Given the description of an element on the screen output the (x, y) to click on. 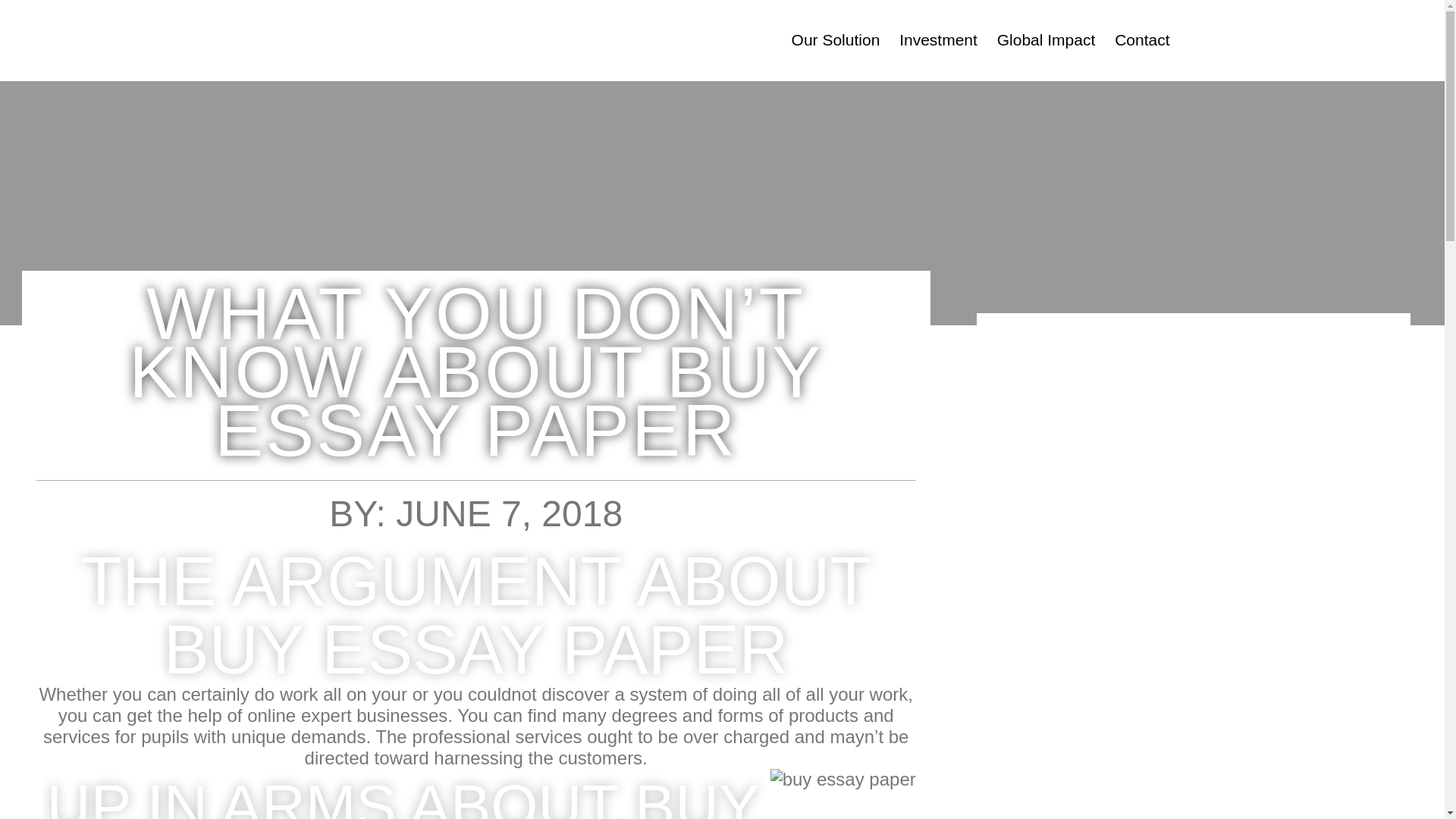
Our Solution (836, 39)
Investment (937, 39)
Contact (1142, 39)
Global Impact (1046, 39)
